Given the description of an element on the screen output the (x, y) to click on. 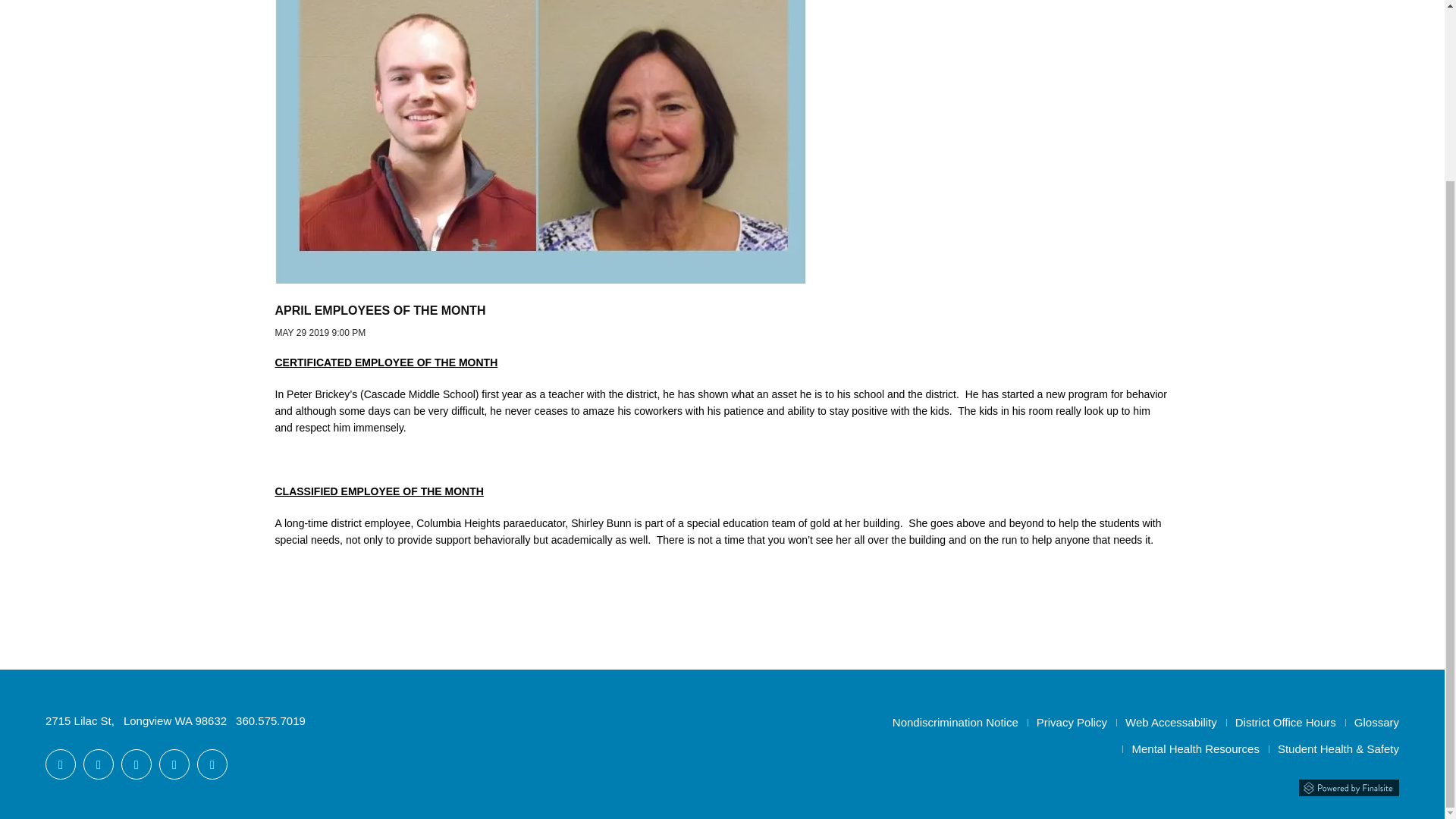
Powered by Finalsite opens in a new window (1348, 785)
